Given the description of an element on the screen output the (x, y) to click on. 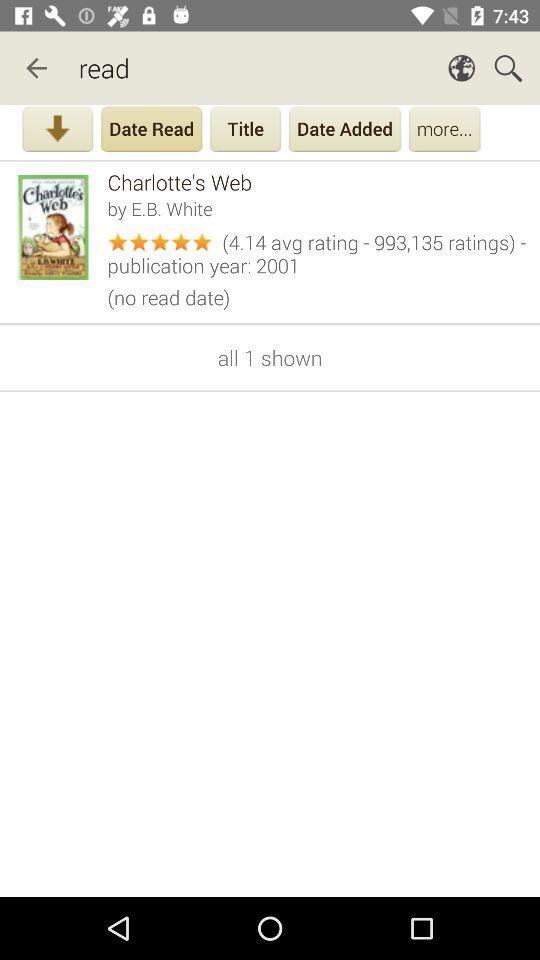
jump to the date added (345, 131)
